Given the description of an element on the screen output the (x, y) to click on. 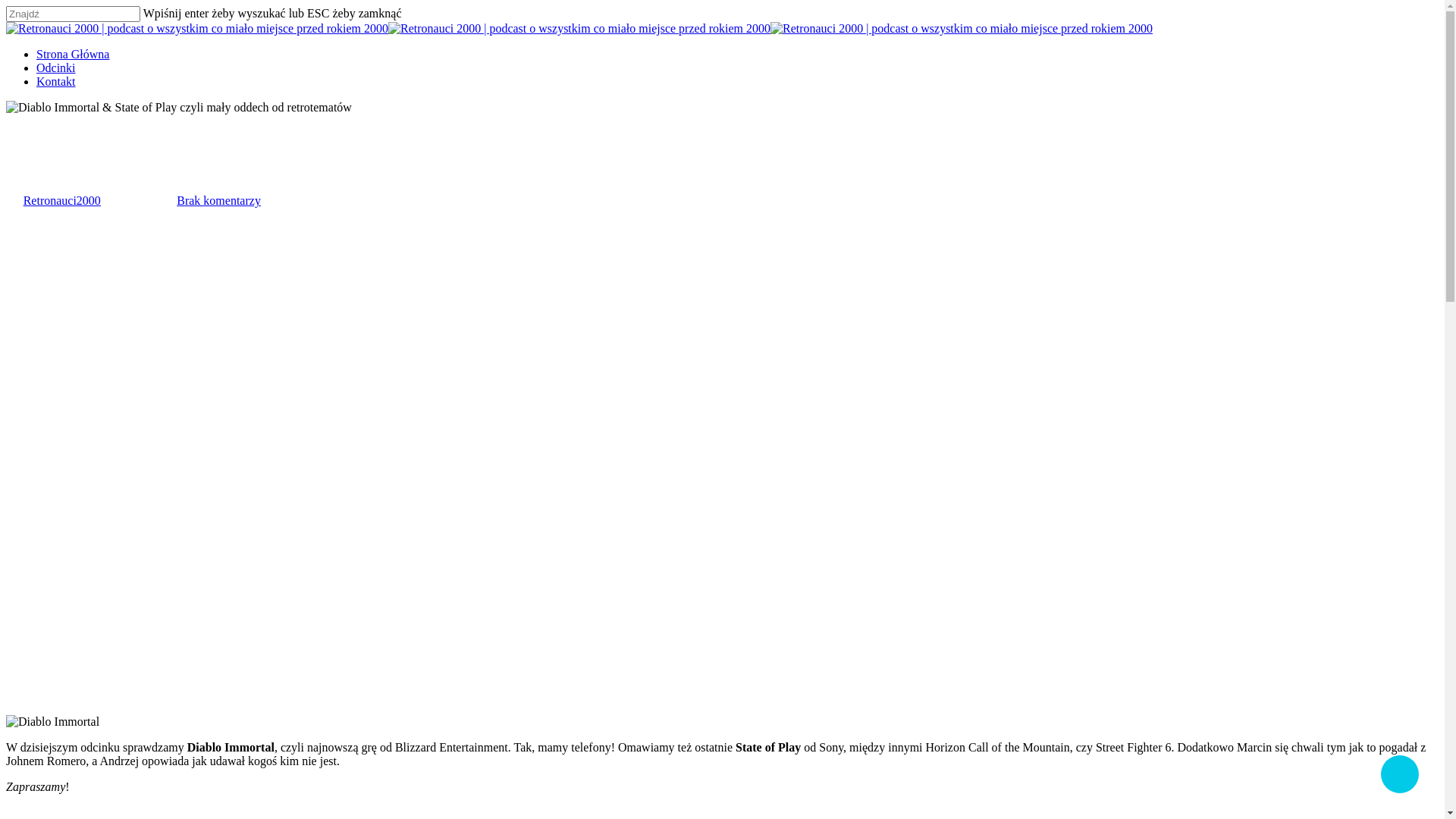
Kontakt Element type: text (55, 81)
Odcinki Element type: text (55, 67)
Retronauci2000 Element type: text (61, 200)
Brak komentarzy Element type: text (218, 200)
Odcinki Element type: text (25, 158)
